Given the description of an element on the screen output the (x, y) to click on. 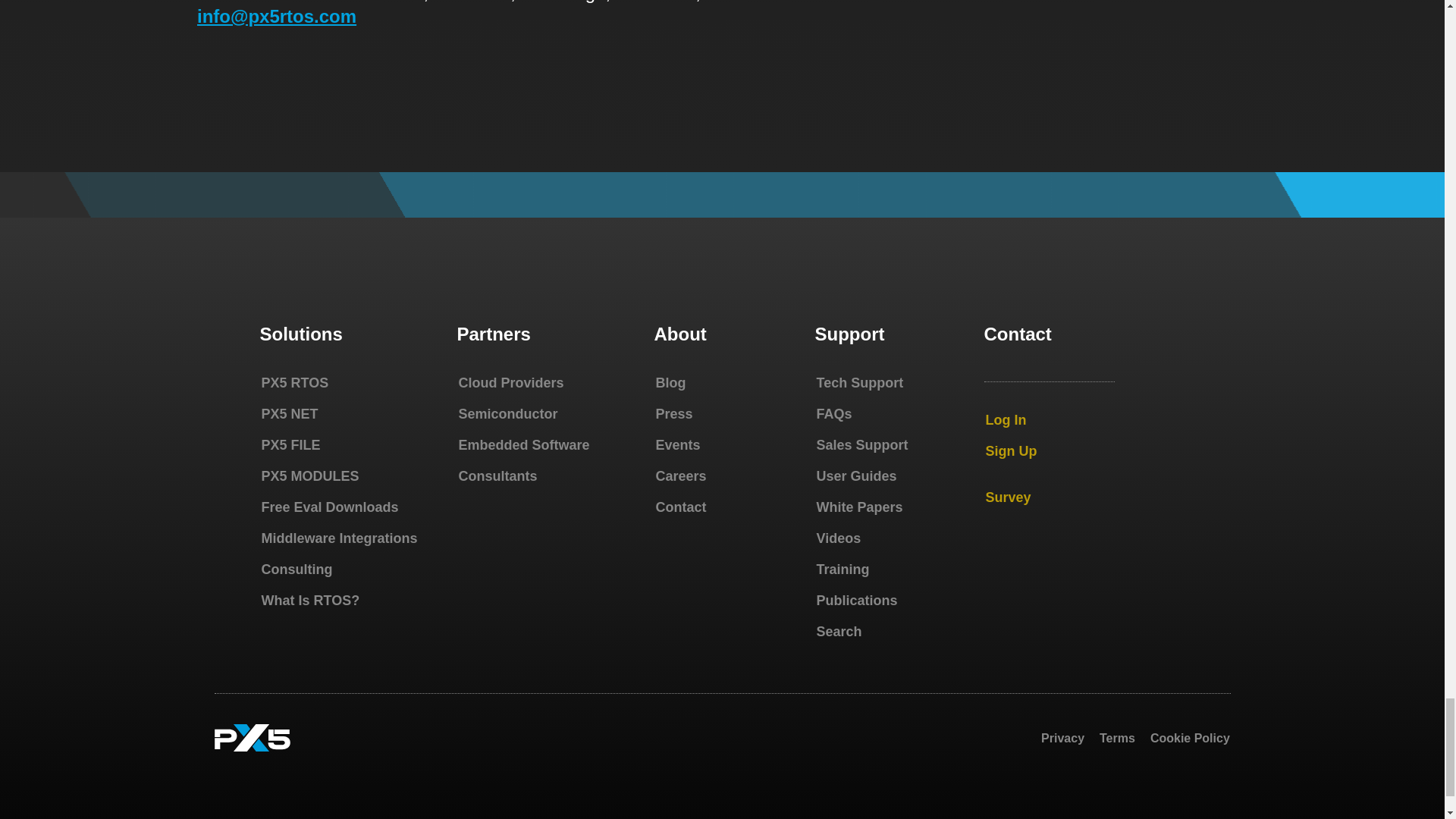
PX5 RTOS (294, 382)
Cloud Providers (510, 382)
PX5 FILE (290, 444)
What Is RTOS? (309, 600)
Middleware Integrations (338, 538)
Solutions (300, 333)
Free Eval Downloads (328, 507)
PX5 MODULES (309, 476)
Partners (493, 333)
PX5 NET (288, 413)
